Given the description of an element on the screen output the (x, y) to click on. 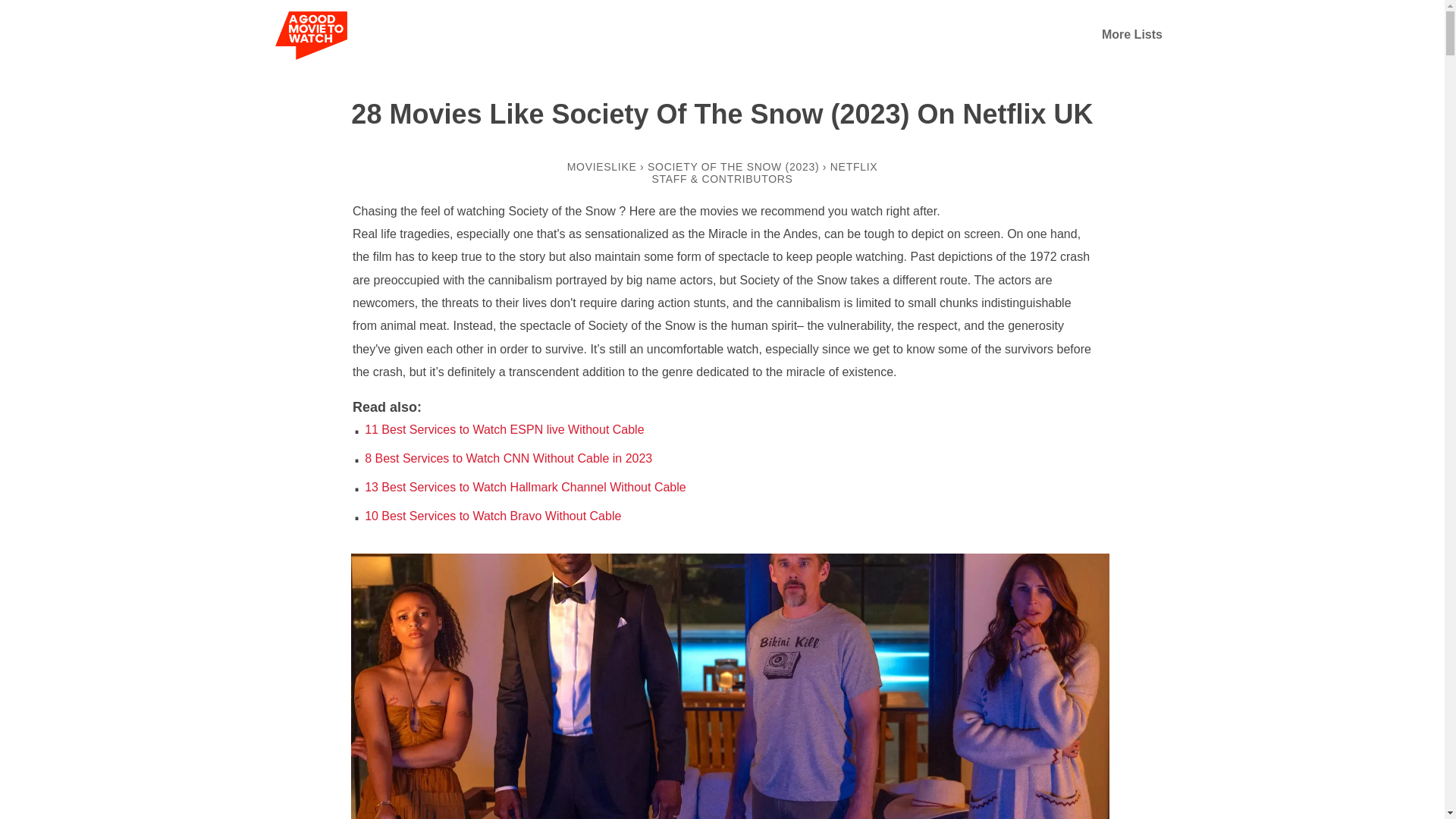
More Lists (1132, 34)
